Given the description of an element on the screen output the (x, y) to click on. 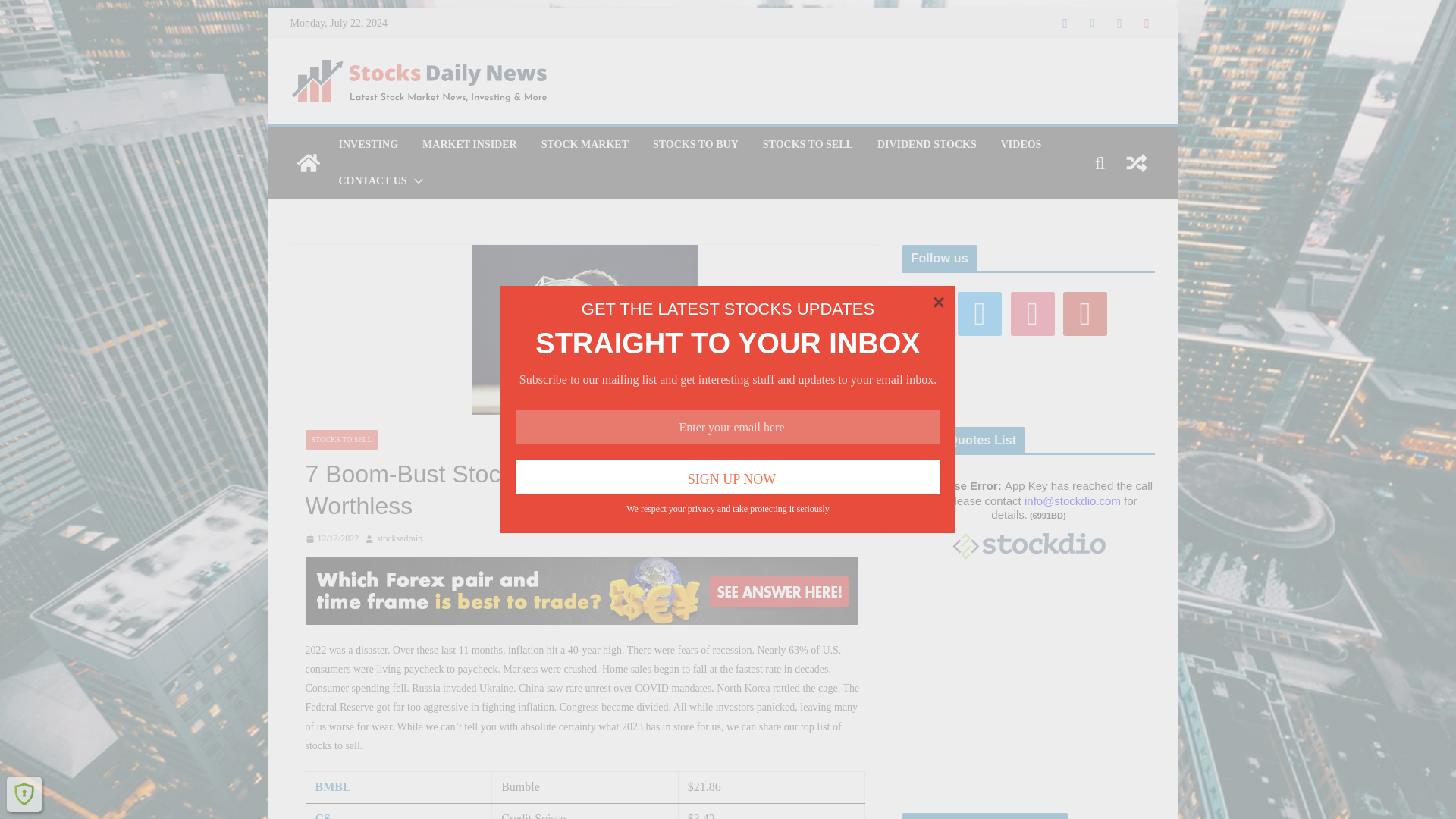
CS (322, 815)
Sign Up Now (727, 476)
INVESTING (367, 144)
STOCKS TO SELL (340, 439)
STOCK MARKET (584, 144)
STOCKS TO SELL (807, 144)
BMBL (332, 786)
stocksadmin (399, 538)
Stock Daily News (307, 162)
View a random post (1136, 162)
CONTACT US (371, 180)
STOCKS TO BUY (695, 144)
stocksadmin (399, 538)
Sign Up Now (727, 353)
